Given the description of an element on the screen output the (x, y) to click on. 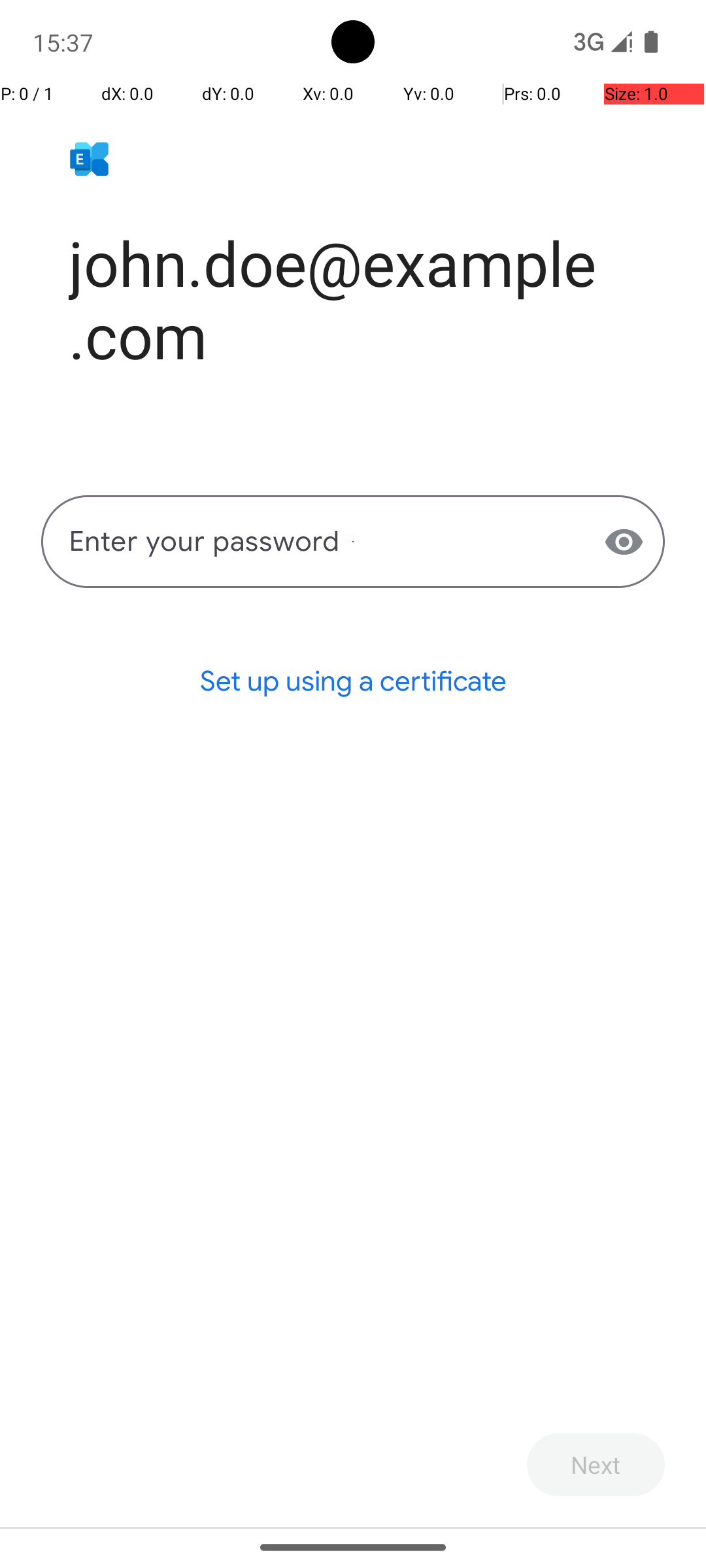
john​.doe​@example​.com Element type: android.widget.TextView (366, 298)
Enter your password Element type: android.widget.EditText (352, 541)
Show password Element type: android.widget.ImageButton (623, 541)
Set up using a certificate Element type: android.widget.TextView (352, 680)
15:37 Element type: android.widget.TextView (64, 41)
